Given the description of an element on the screen output the (x, y) to click on. 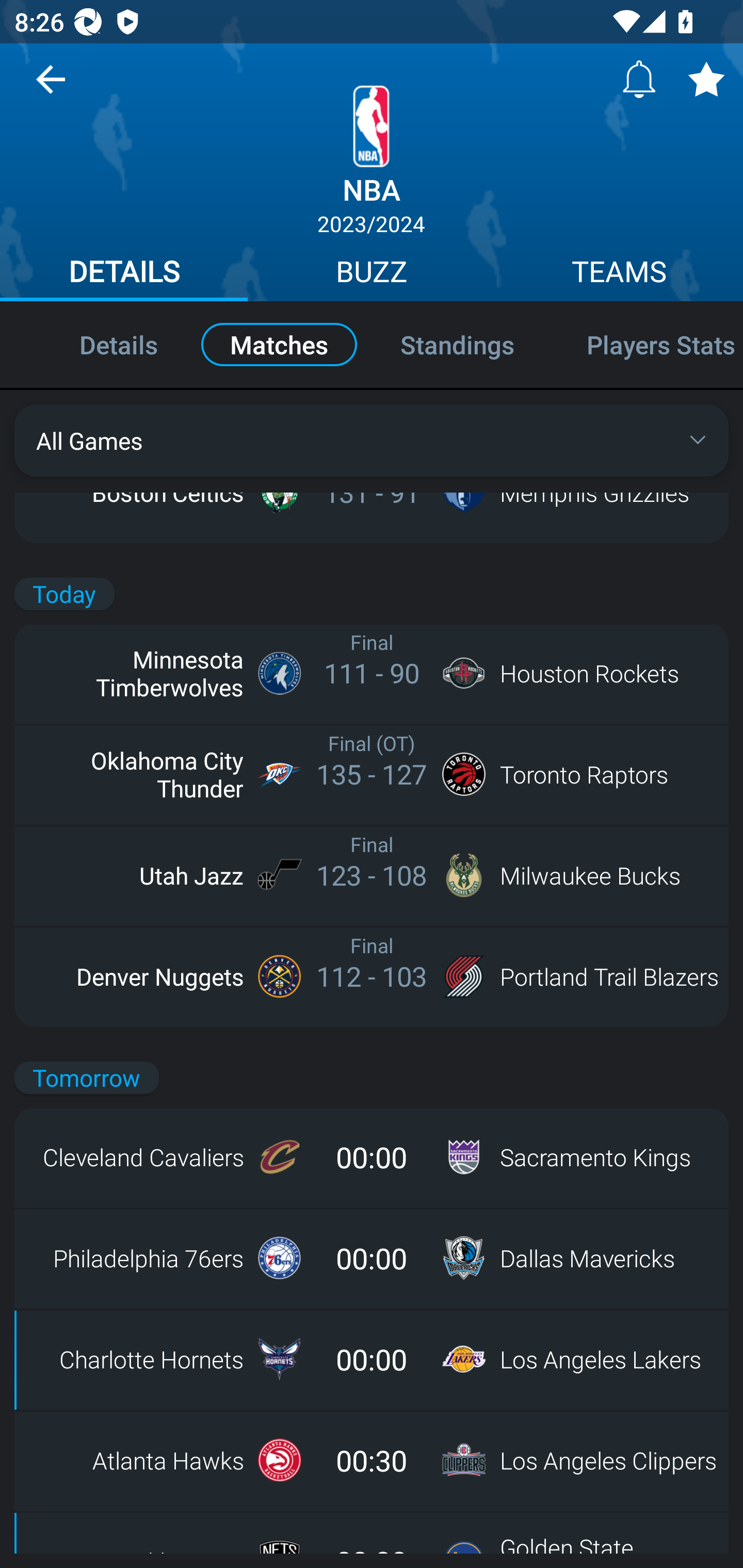
Navigate up (50, 86)
DETAILS (123, 274)
BUZZ (371, 274)
TEAMS (619, 274)
Details (96, 344)
Standings (457, 344)
Players Stats (646, 344)
All Games (371, 440)
Utah Jazz Final 123 - 108 Milwaukee Bucks (371, 874)
Cleveland Cavaliers 00:00 Sacramento Kings (371, 1157)
Philadelphia 76ers 00:00 Dallas Mavericks (371, 1258)
Charlotte Hornets 00:00 Los Angeles Lakers (371, 1359)
Atlanta Hawks 00:30 Los Angeles Clippers (371, 1459)
